Given the description of an element on the screen output the (x, y) to click on. 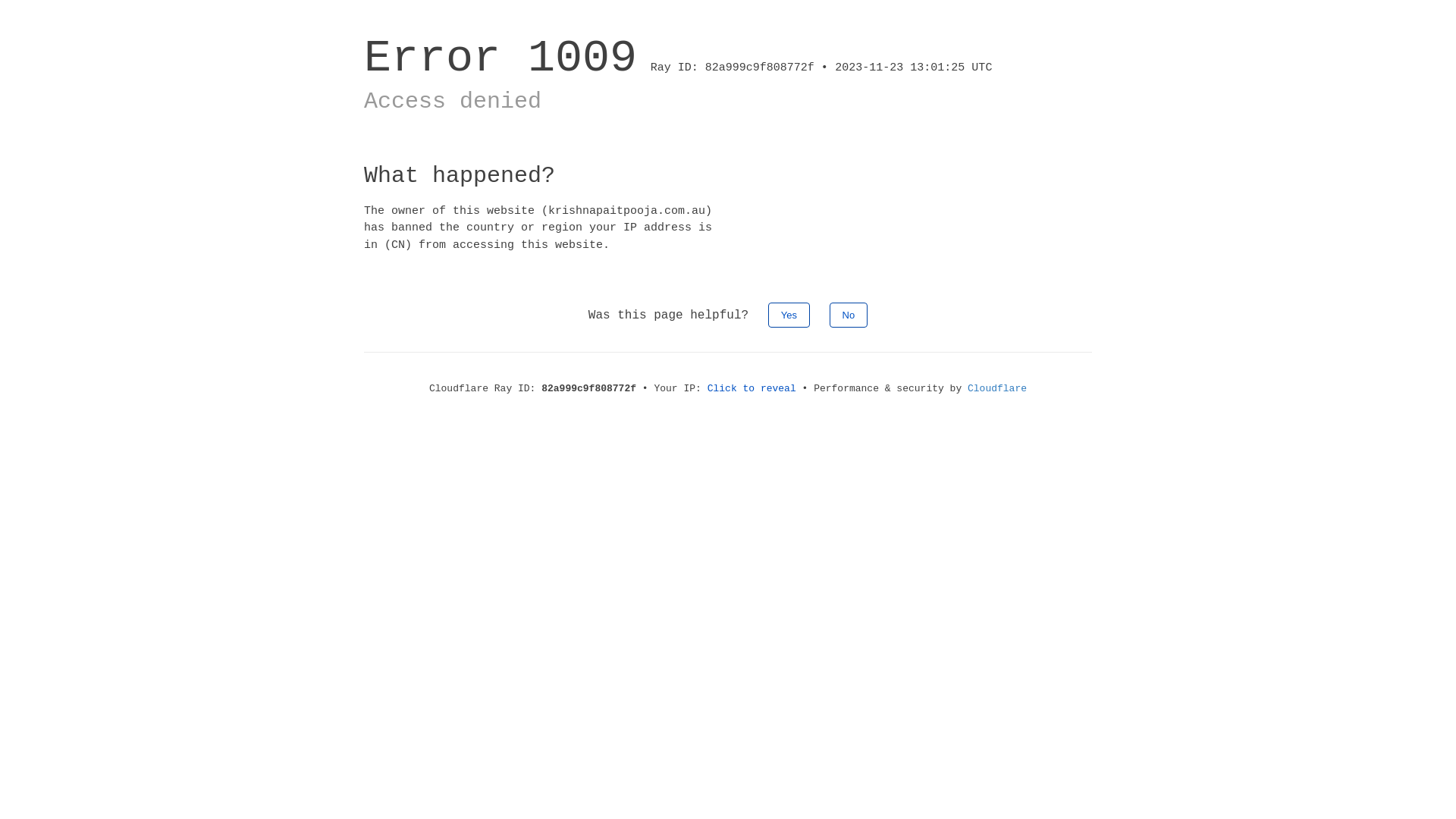
Cloudflare Element type: text (996, 388)
No Element type: text (848, 314)
Yes Element type: text (788, 314)
Click to reveal Element type: text (751, 388)
